Given the description of an element on the screen output the (x, y) to click on. 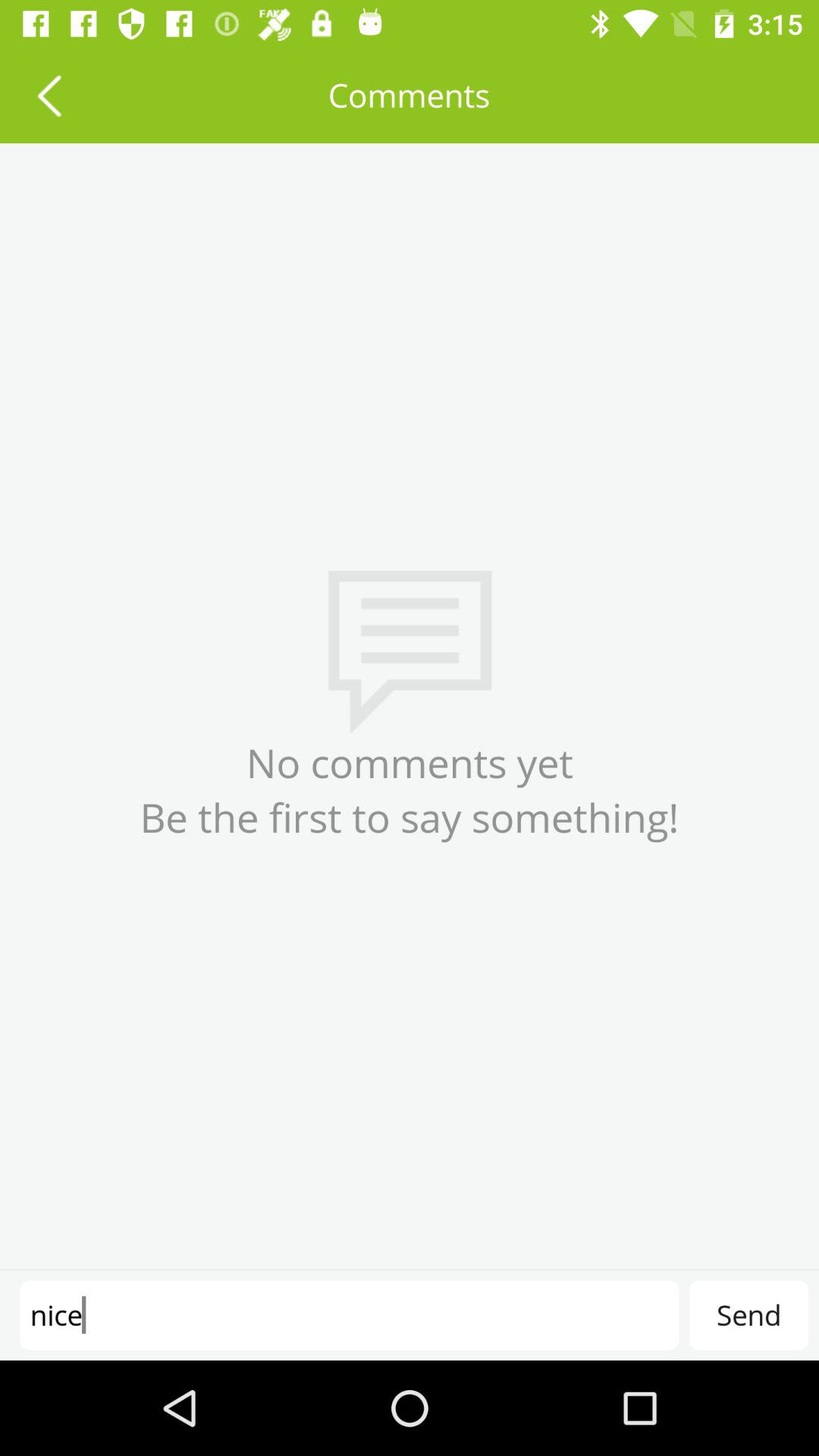
press the item to the left of comments item (48, 95)
